Given the description of an element on the screen output the (x, y) to click on. 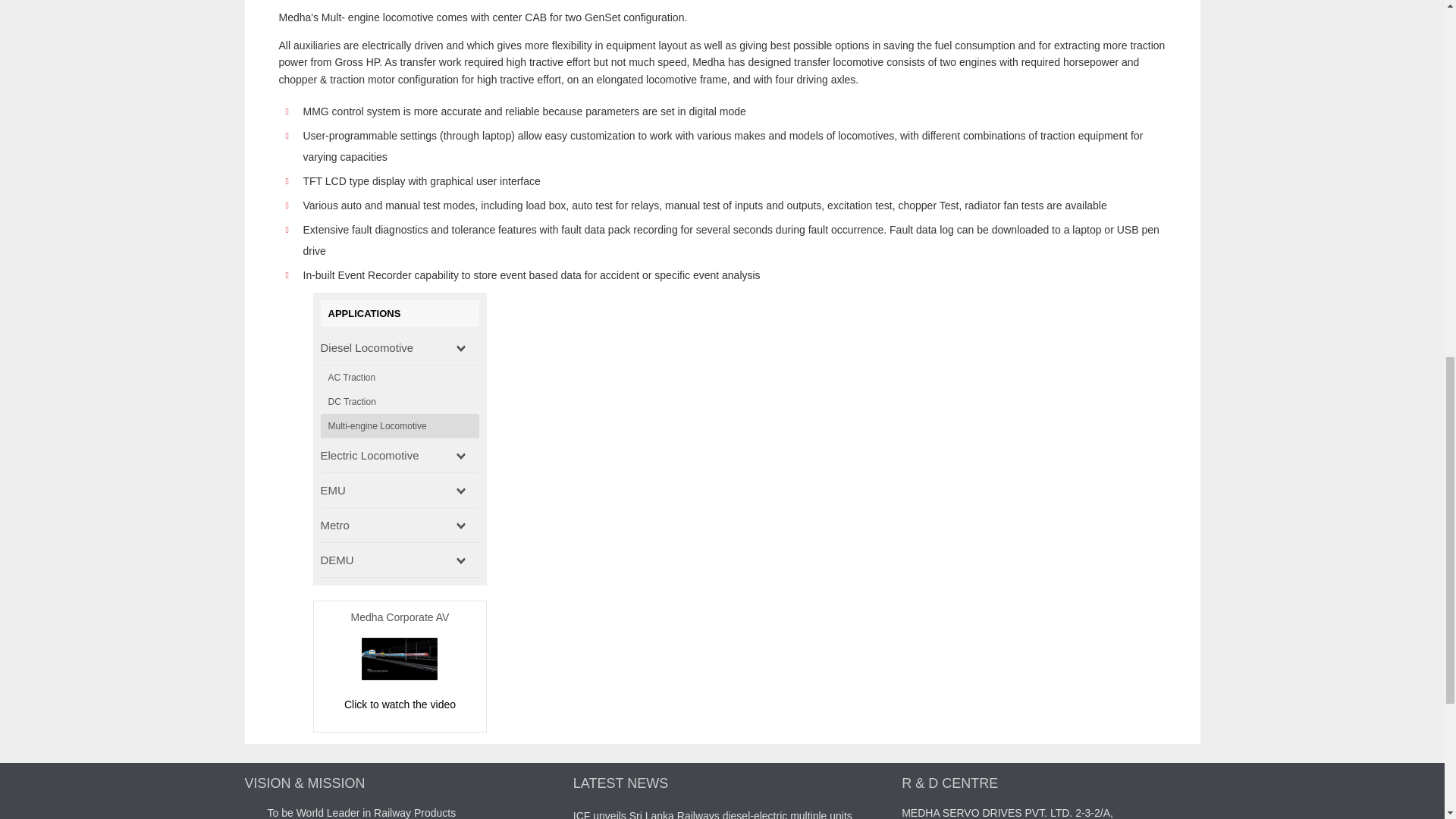
Medha AV (399, 676)
Medha Audio Visual (399, 704)
